Given the description of an element on the screen output the (x, y) to click on. 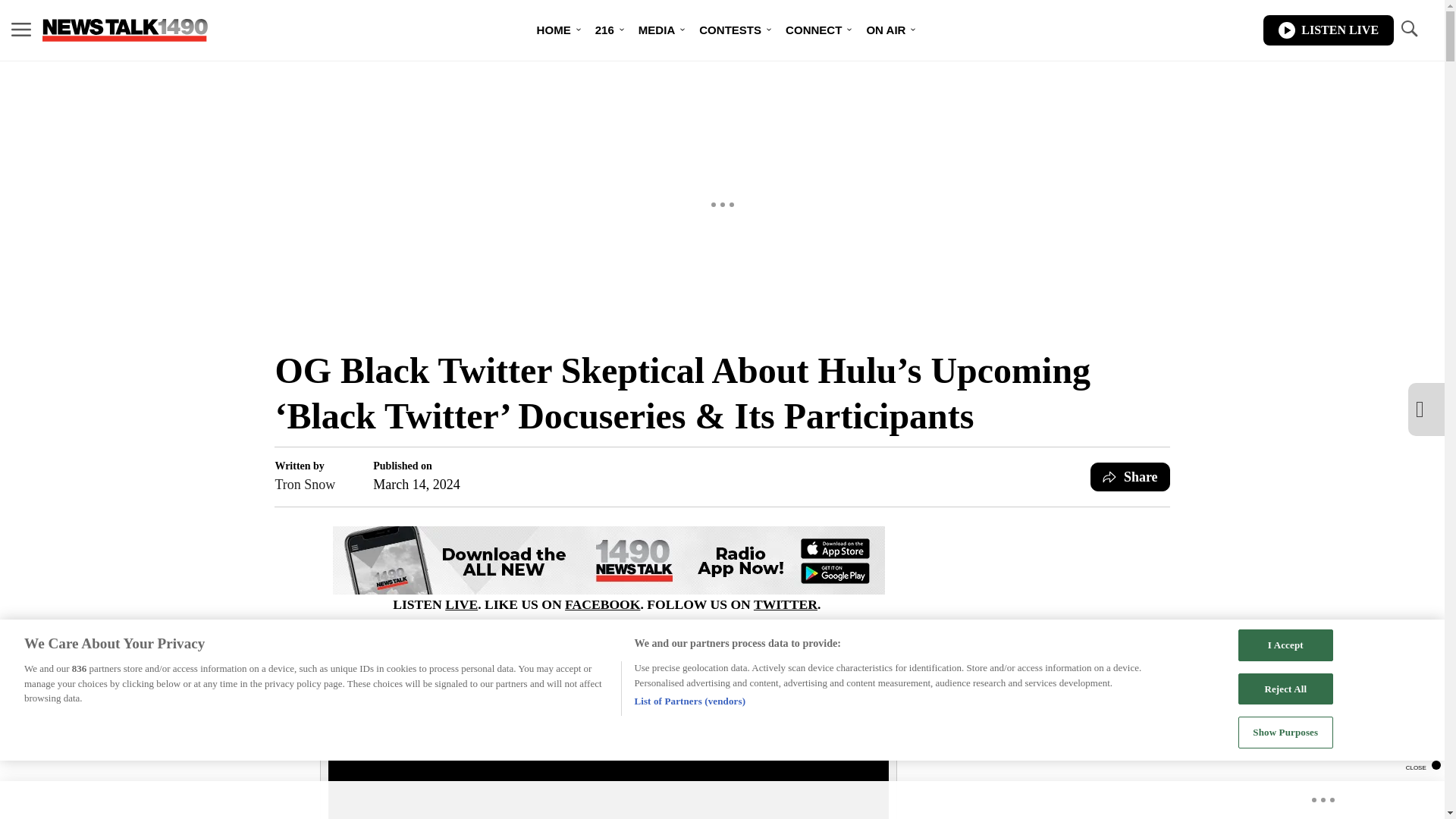
LIVE (461, 604)
CONTESTS (730, 30)
HOME (553, 30)
ON AIR (885, 30)
LISTEN LIVE (1328, 30)
Share (1130, 476)
216 (604, 30)
CONNECT (813, 30)
TOGGLE SEARCH (1408, 28)
TWITTER (785, 604)
MENU (20, 30)
TOGGLE SEARCH (1408, 30)
Tron Snow (304, 484)
FACEBOOK (602, 604)
MEDIA (656, 30)
